Given the description of an element on the screen output the (x, y) to click on. 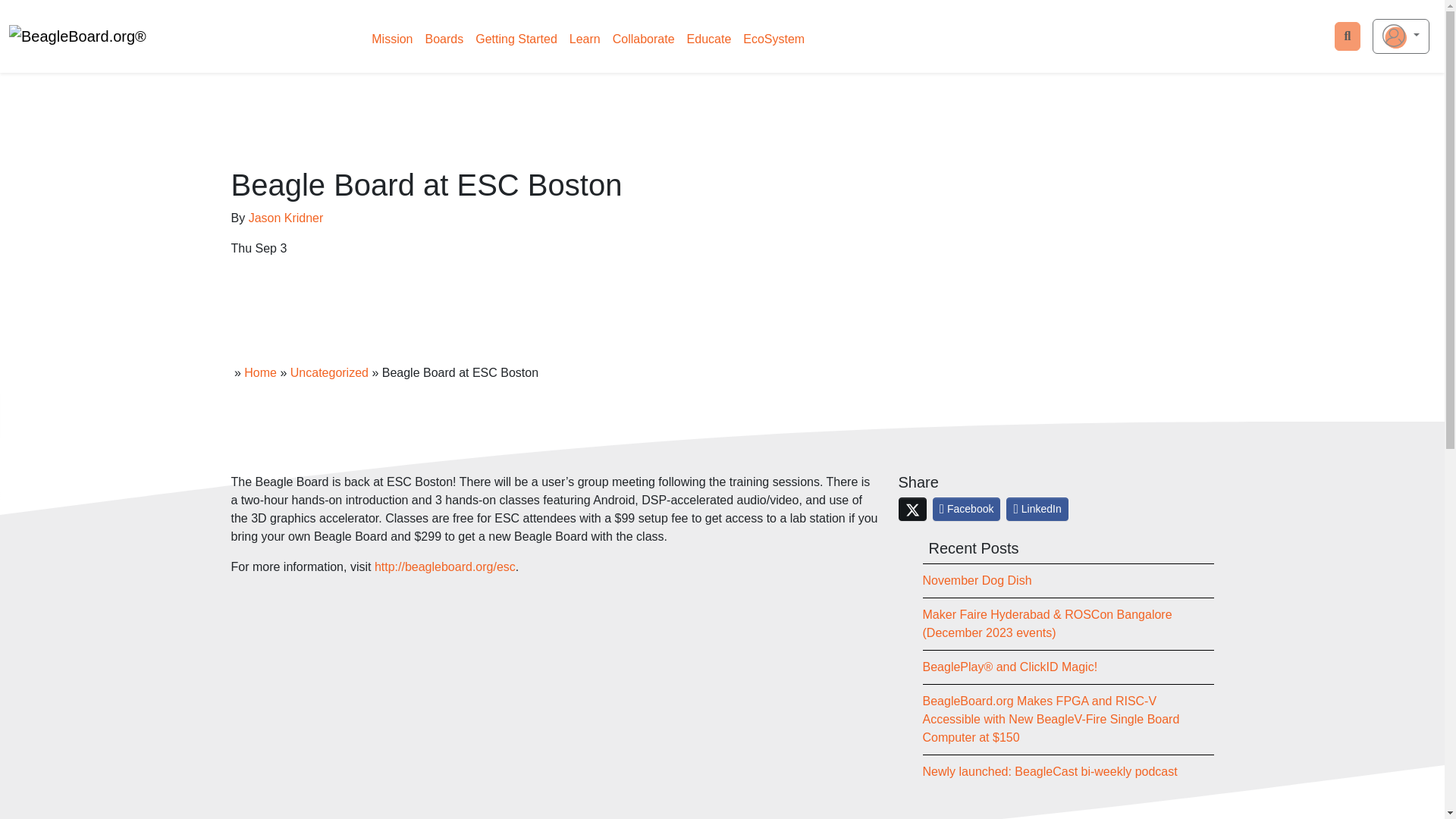
Getting Started (515, 39)
Toggle search (1348, 36)
Newly launched: BeagleCast bi-weekly podcast (1050, 771)
Educate (709, 39)
EcoSystem (773, 39)
Share on X (912, 508)
Learn (585, 39)
Mission (392, 39)
Facebook (967, 508)
Uncategorized (328, 372)
